Given the description of an element on the screen output the (x, y) to click on. 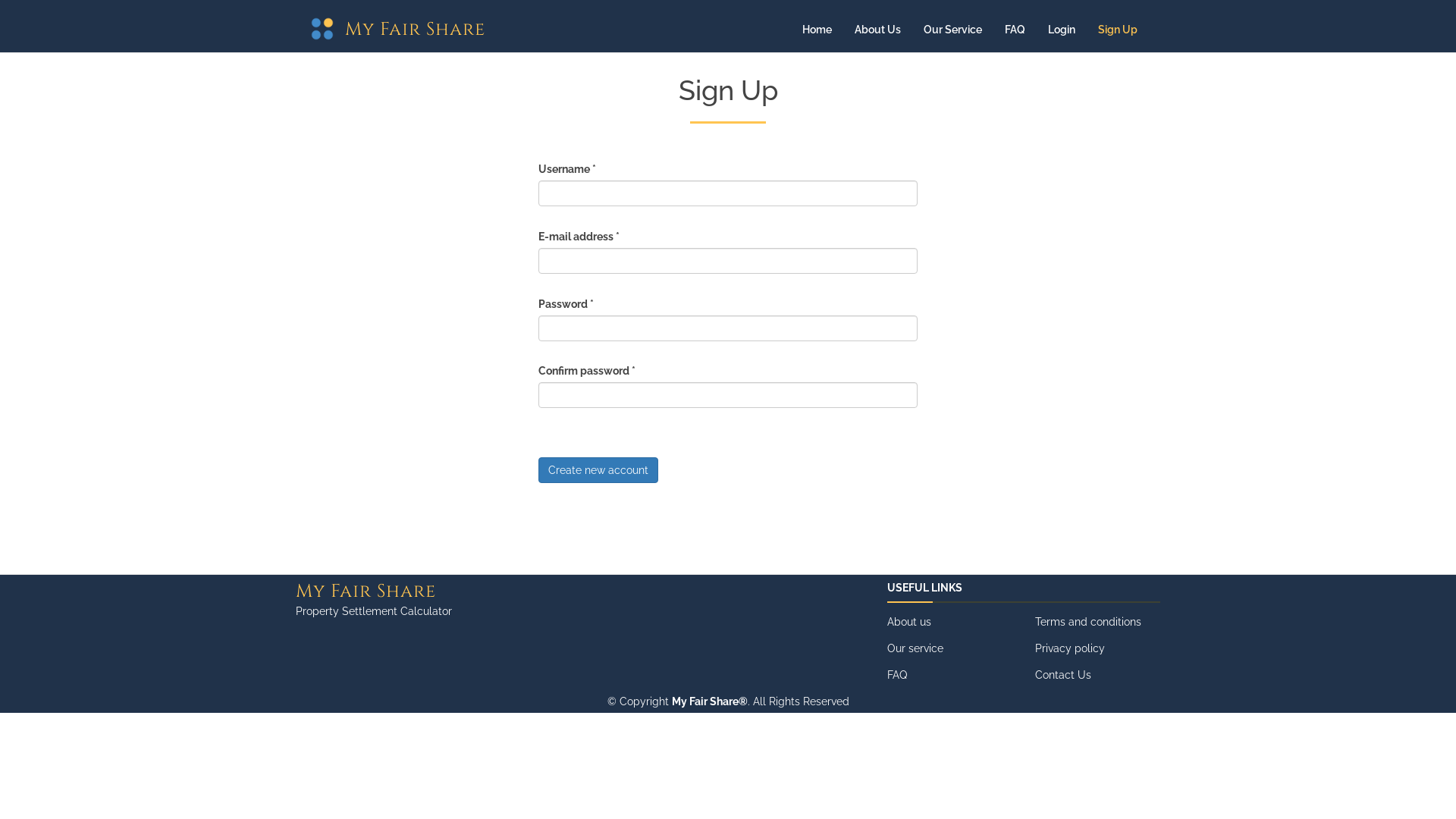
Privacy policy Element type: text (1069, 648)
Our Service Element type: text (952, 29)
FAQ Element type: text (1014, 29)
About us Element type: text (909, 621)
About Us Element type: text (877, 29)
My Fair Share Element type: text (414, 29)
Login Element type: text (1061, 29)
Our service Element type: text (915, 648)
Terms and conditions Element type: text (1088, 621)
Create new account Element type: text (598, 470)
Home Element type: text (816, 29)
Home Element type: hover (326, 28)
Contact Us Element type: text (1063, 674)
FAQ Element type: text (896, 674)
Sign Up Element type: text (1117, 29)
Skip to main content Element type: text (0, 48)
